Given the description of an element on the screen output the (x, y) to click on. 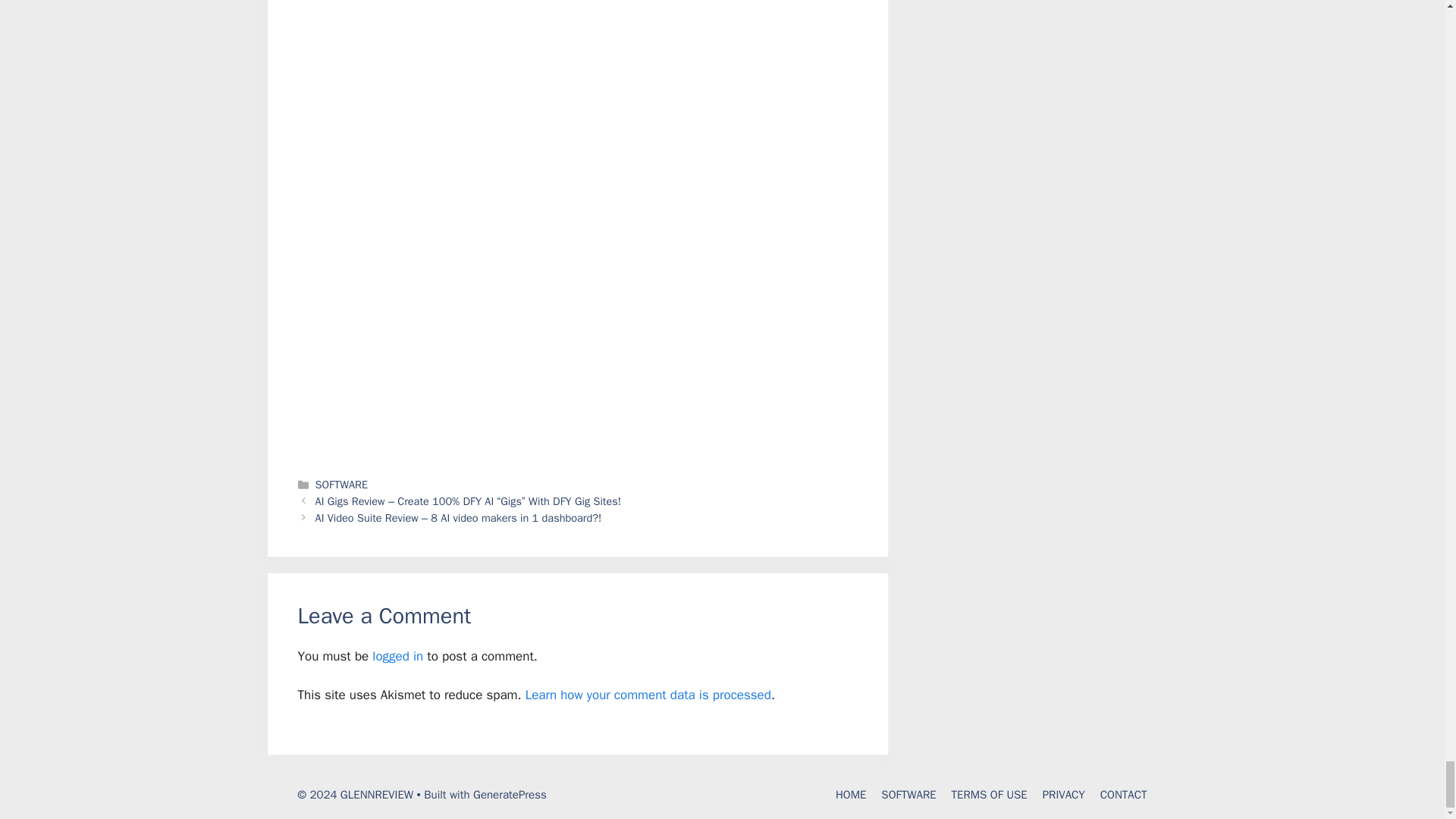
Learn how your comment data is processed (648, 694)
logged in (397, 656)
SOFTWARE (341, 484)
